Given the description of an element on the screen output the (x, y) to click on. 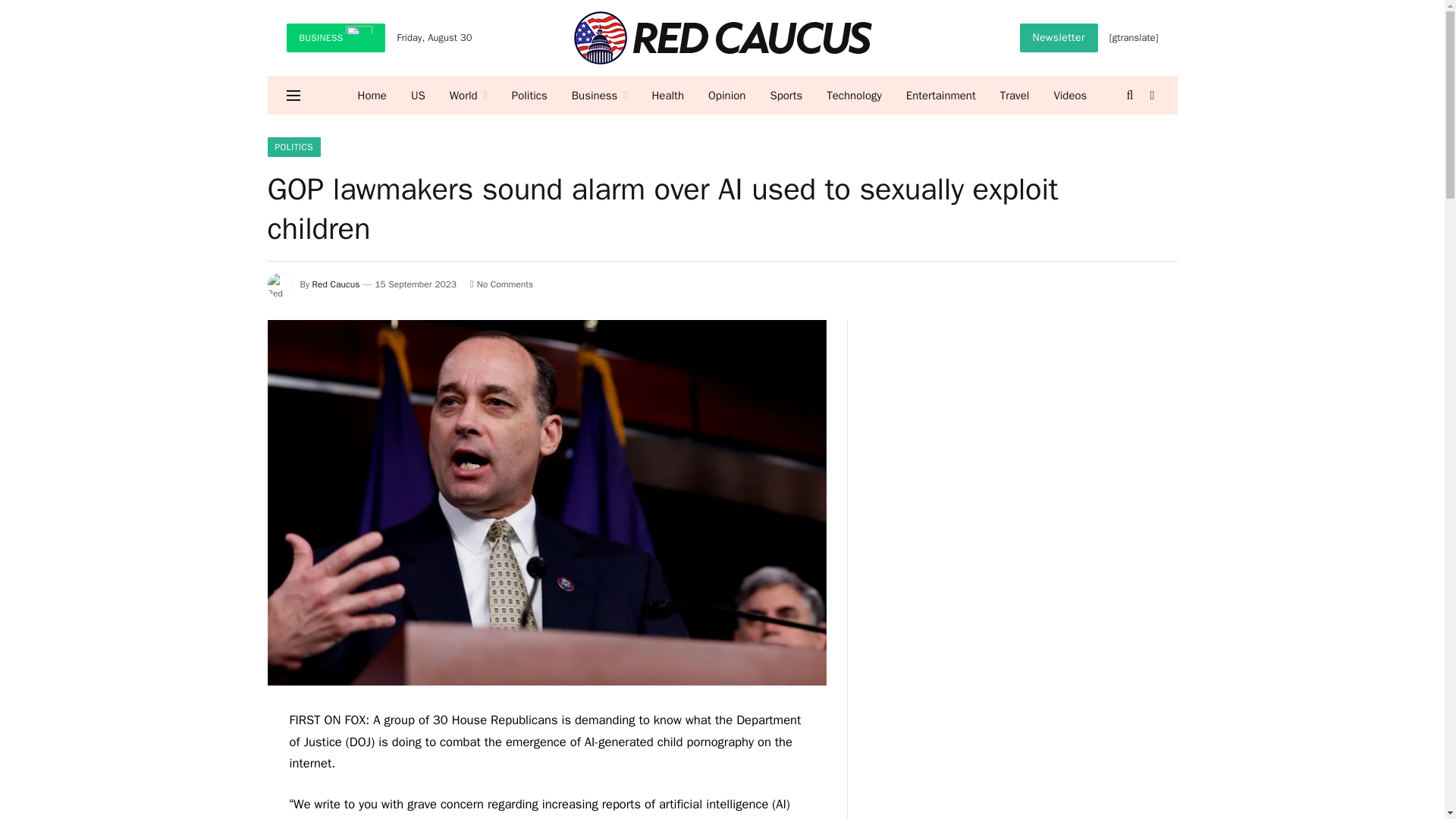
Switch to Dark Design - easier on eyes. (1150, 95)
US (418, 95)
Newsletter (1058, 37)
BUSINESS (335, 37)
World (468, 95)
Red Caucus (722, 38)
Home (372, 95)
Politics (529, 95)
Posts by Red Caucus (336, 284)
